Given the description of an element on the screen output the (x, y) to click on. 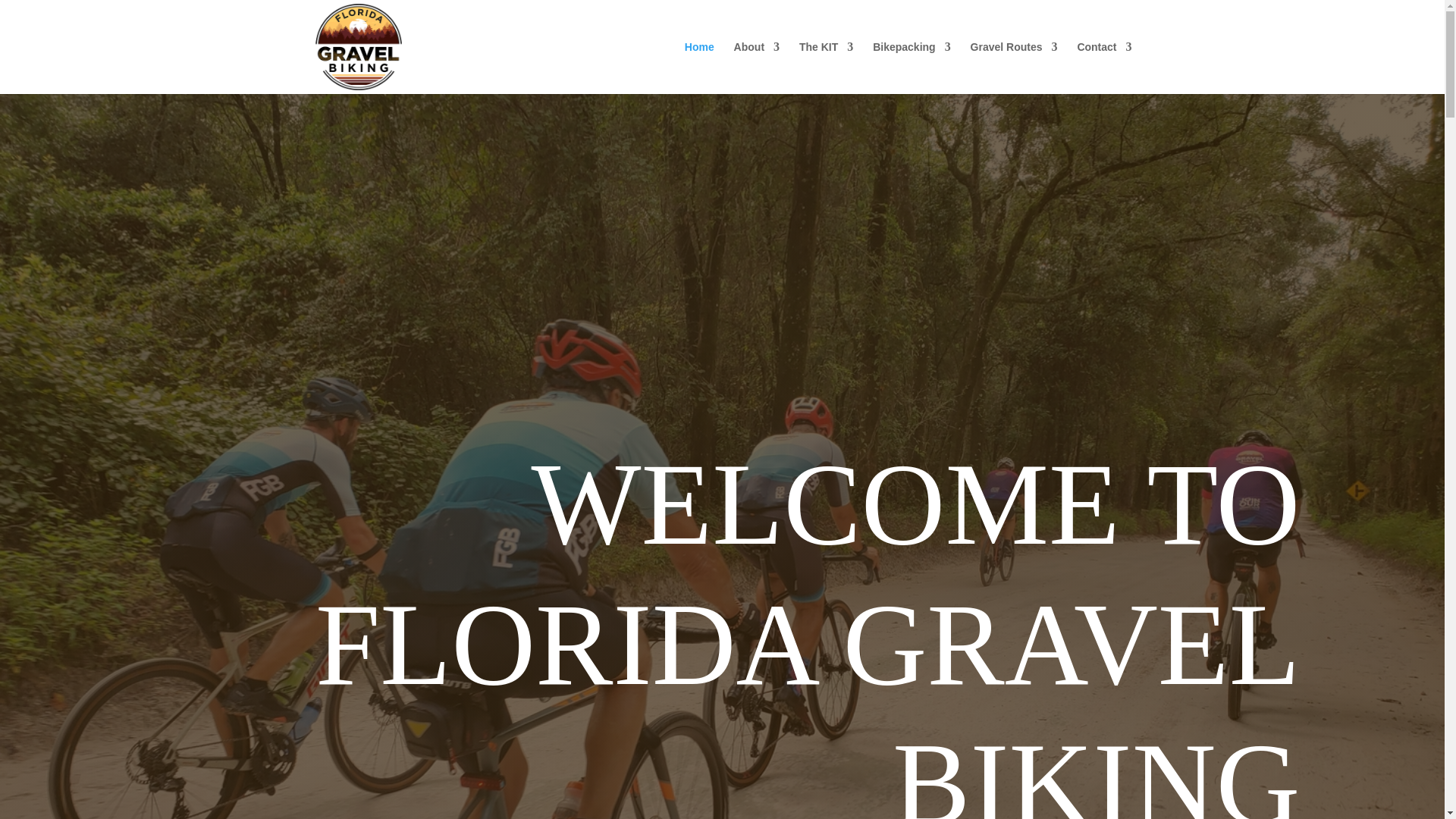
Gravel Routes (1014, 67)
The KIT (826, 67)
Contact (1104, 67)
Bikepacking (911, 67)
